Given the description of an element on the screen output the (x, y) to click on. 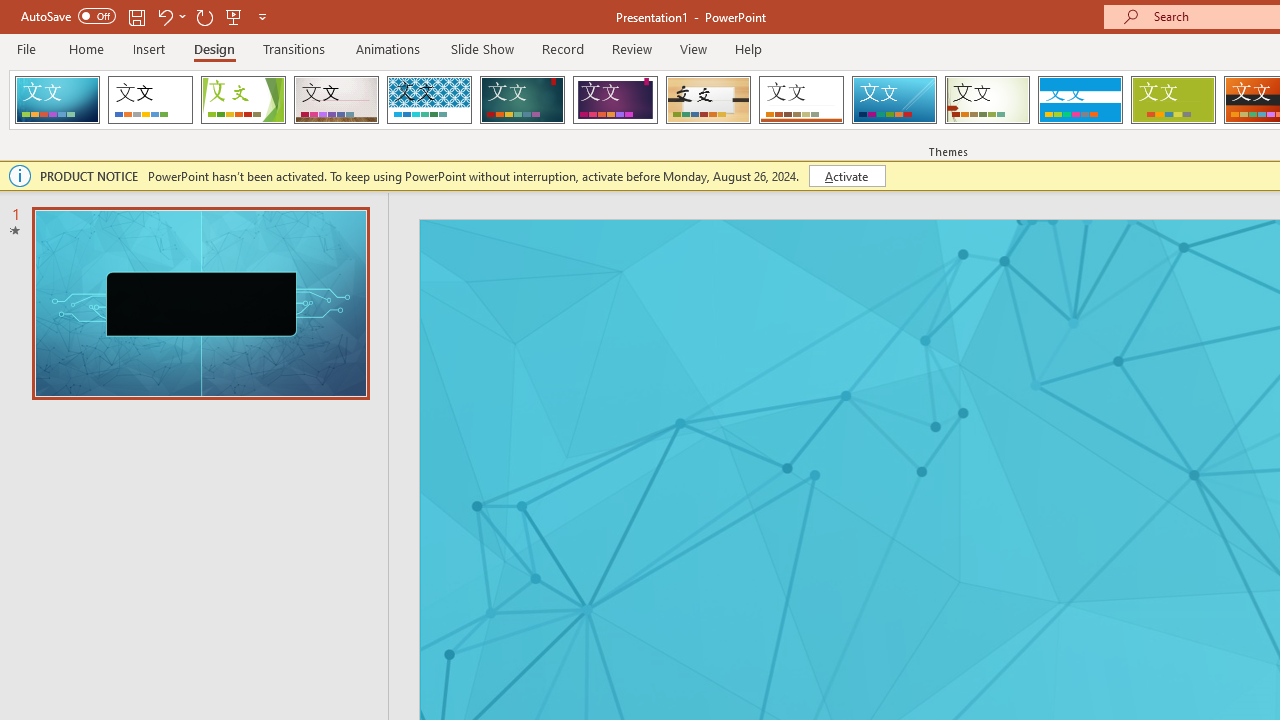
Wisp (987, 100)
Banded (1080, 100)
Basis (1172, 100)
